Given the description of an element on the screen output the (x, y) to click on. 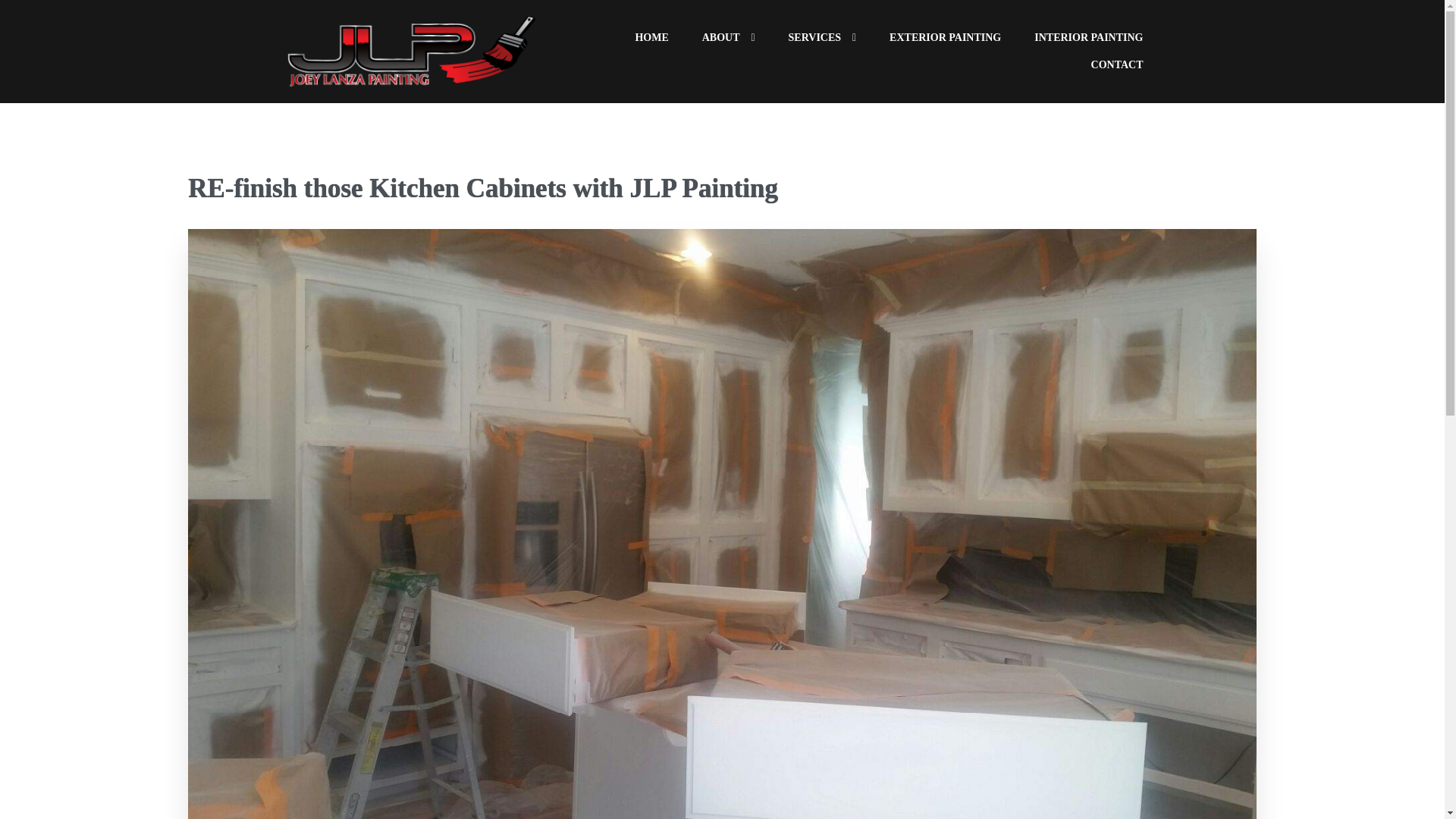
CONTACT (1116, 64)
SERVICES (822, 37)
EXTERIOR PAINTING (945, 37)
ABOUT (728, 37)
INTERIOR PAINTING (1088, 37)
logo (411, 51)
HOME (651, 37)
